Given the description of an element on the screen output the (x, y) to click on. 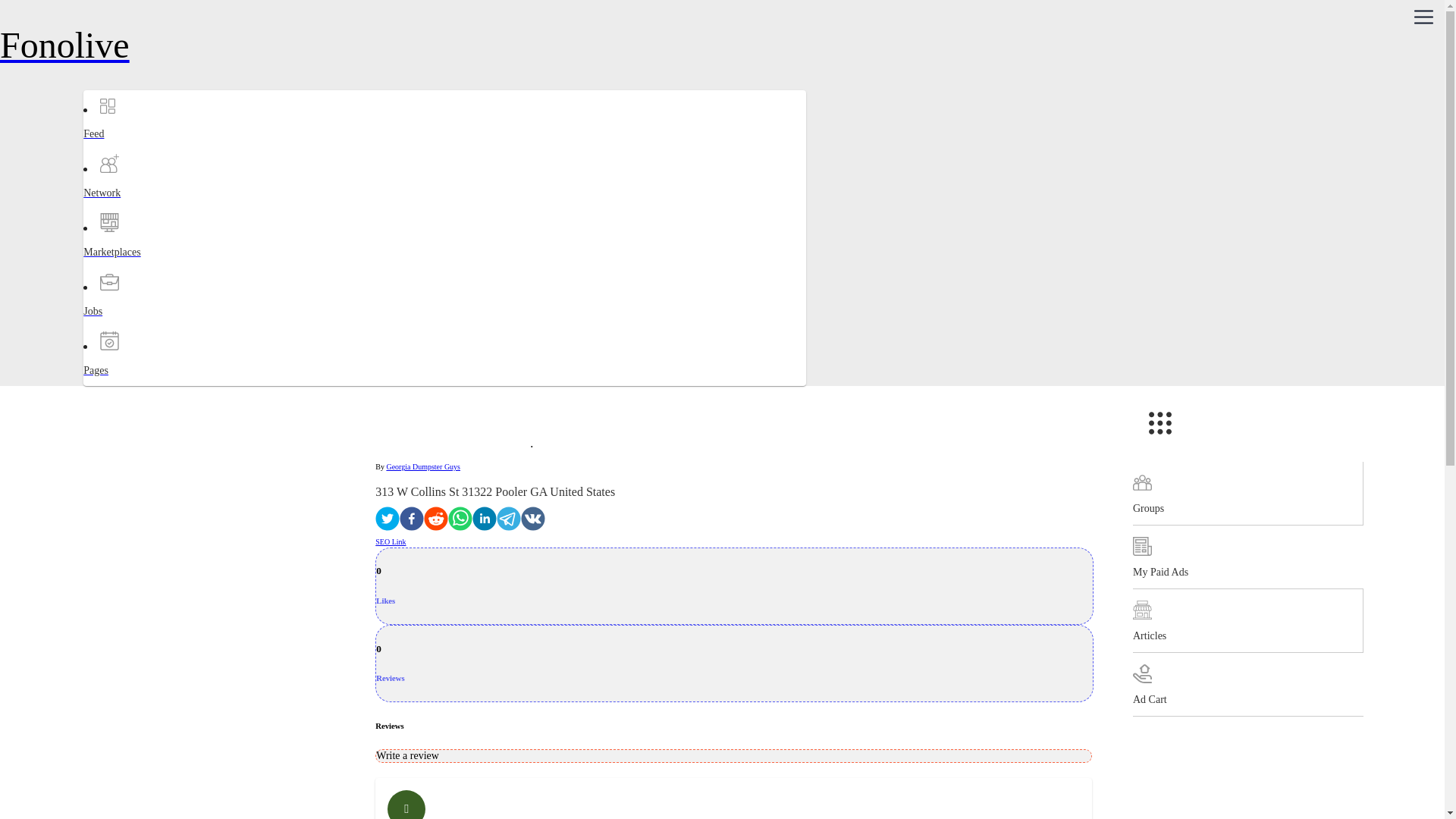
Articles (1247, 620)
My Paid Ads (1247, 556)
Ad Cart (1247, 684)
Groups (1247, 493)
Marketplaces (142, 265)
Network (142, 206)
Pages (142, 384)
Feed (142, 147)
SEO Link (390, 541)
Jobs (142, 325)
Georgia Dumpster Guys (422, 466)
